Given the description of an element on the screen output the (x, y) to click on. 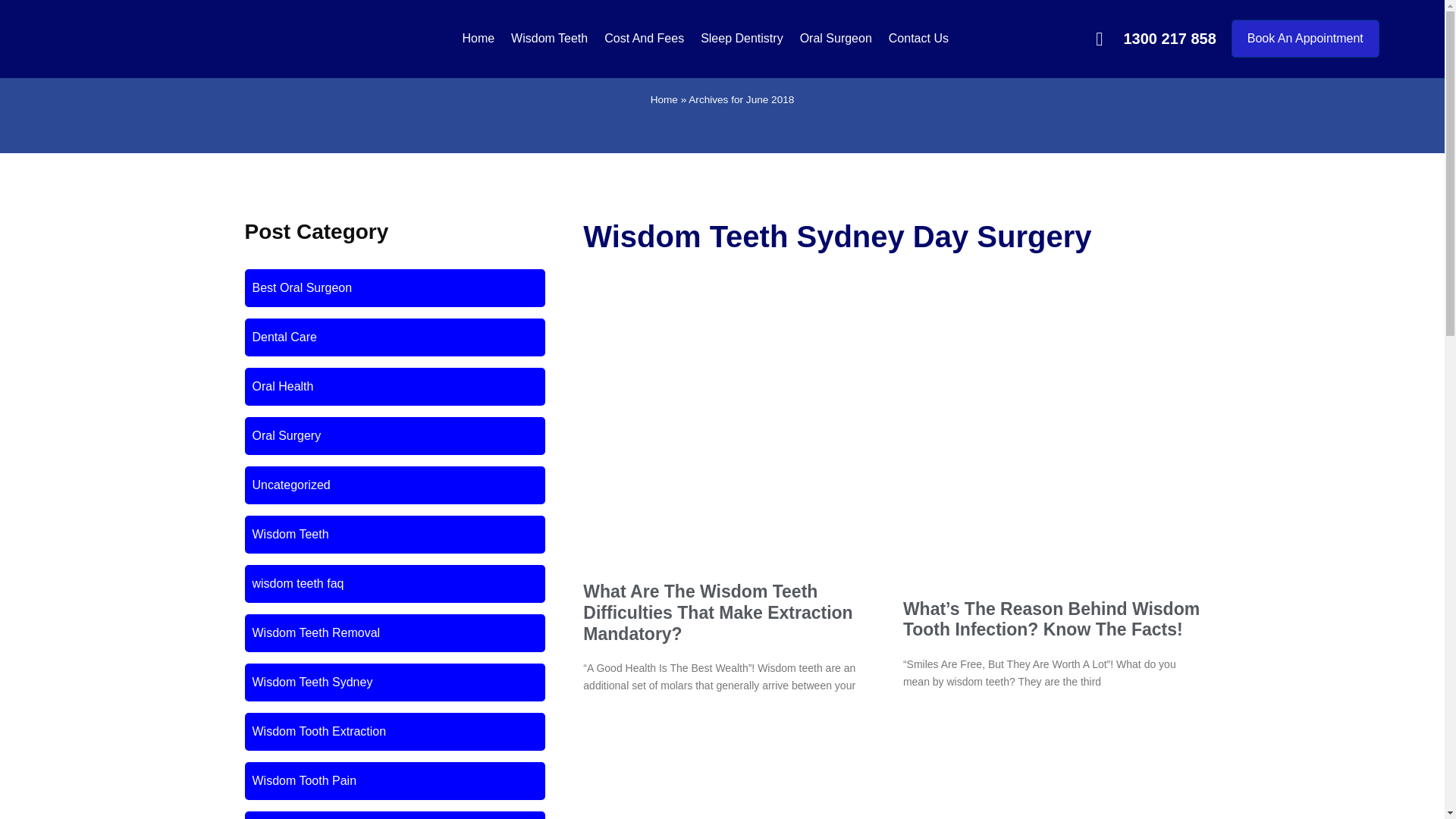
Dental Care (283, 336)
Contact Us (918, 29)
1300 217 858 (1155, 34)
Uncategorized (290, 484)
Oral Surgery (285, 435)
Wisdom Tooth Extraction (318, 730)
Wisdom Teeth (549, 22)
Cost And Fees (644, 24)
Home (664, 99)
